Given the description of an element on the screen output the (x, y) to click on. 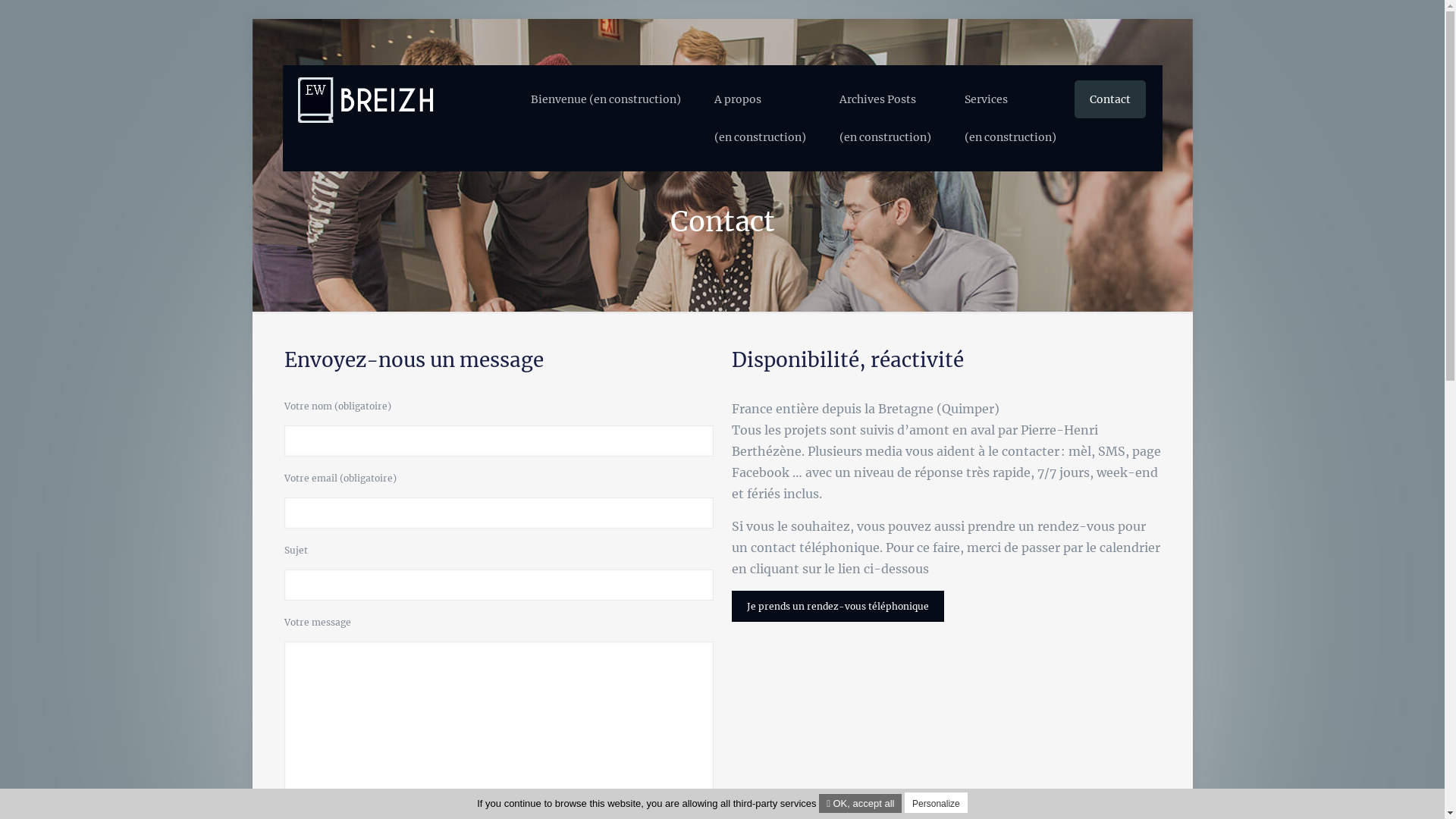
Bienvenue (en construction) Element type: text (605, 99)
Services
(en construction) Element type: text (1010, 118)
A propos
(en construction) Element type: text (760, 118)
Archives Posts
(en construction) Element type: text (884, 118)
Personalize Element type: text (935, 802)
Contact Element type: text (1109, 99)
